Given the description of an element on the screen output the (x, y) to click on. 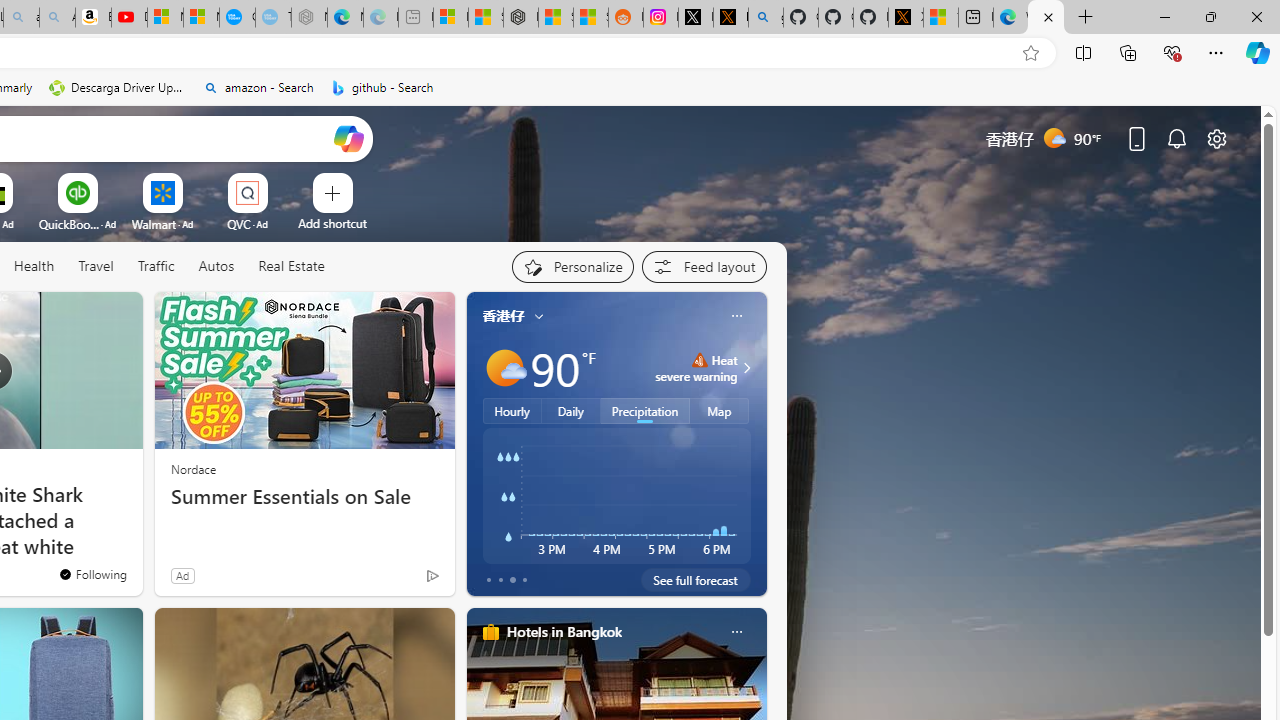
Page settings (1216, 138)
Descarga Driver Updater (118, 88)
tab-3 (524, 579)
github - Search (765, 17)
